Given the description of an element on the screen output the (x, y) to click on. 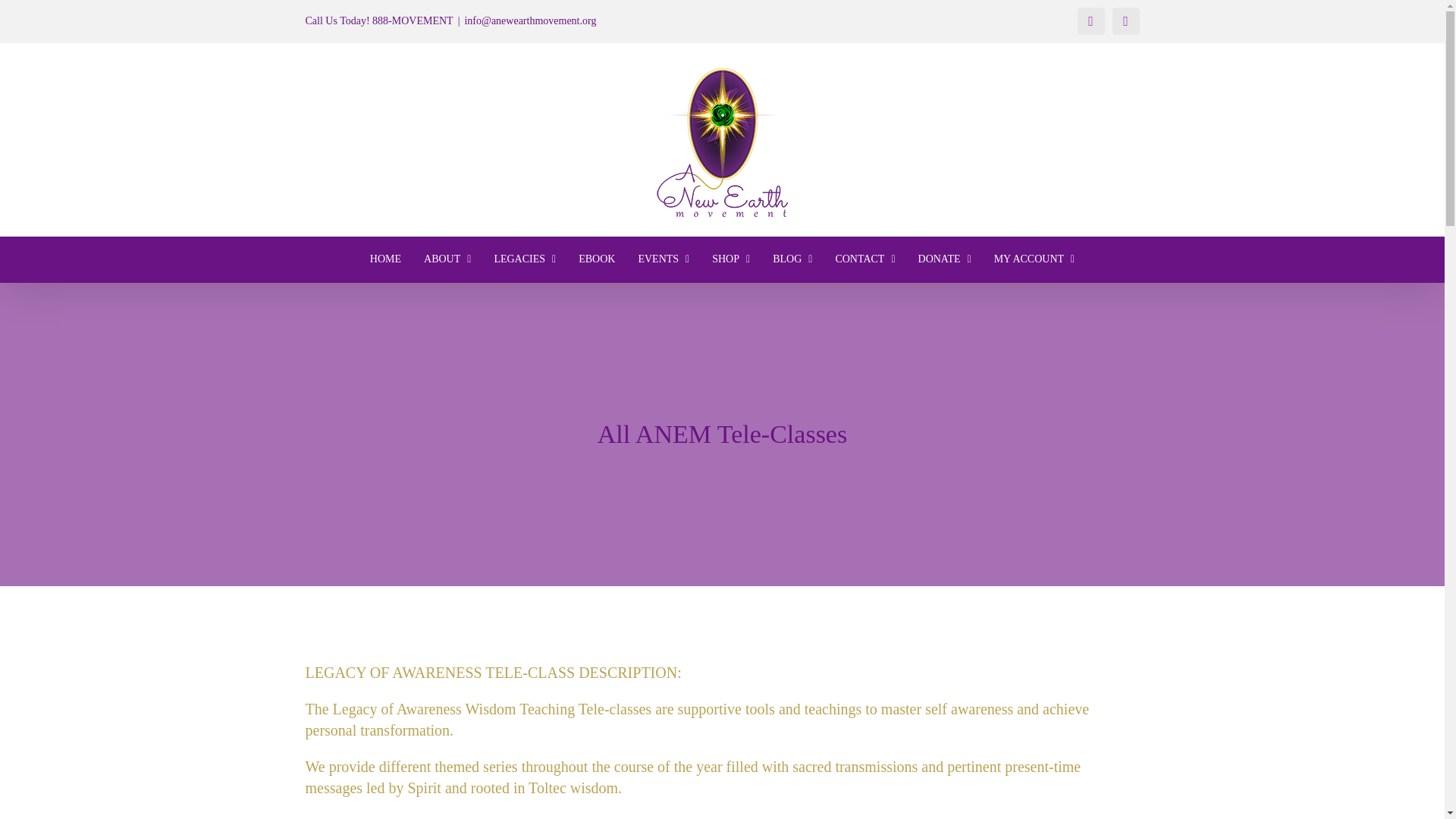
CONTACT (864, 258)
EBOOK (596, 258)
ABOUT (446, 258)
SHOP (730, 258)
Facebook (1091, 21)
Instagram (1126, 21)
Instagram (1126, 21)
LEGACIES (524, 258)
Facebook (1091, 21)
BLOG (792, 258)
EVENTS (663, 258)
HOME (385, 258)
